Given the description of an element on the screen output the (x, y) to click on. 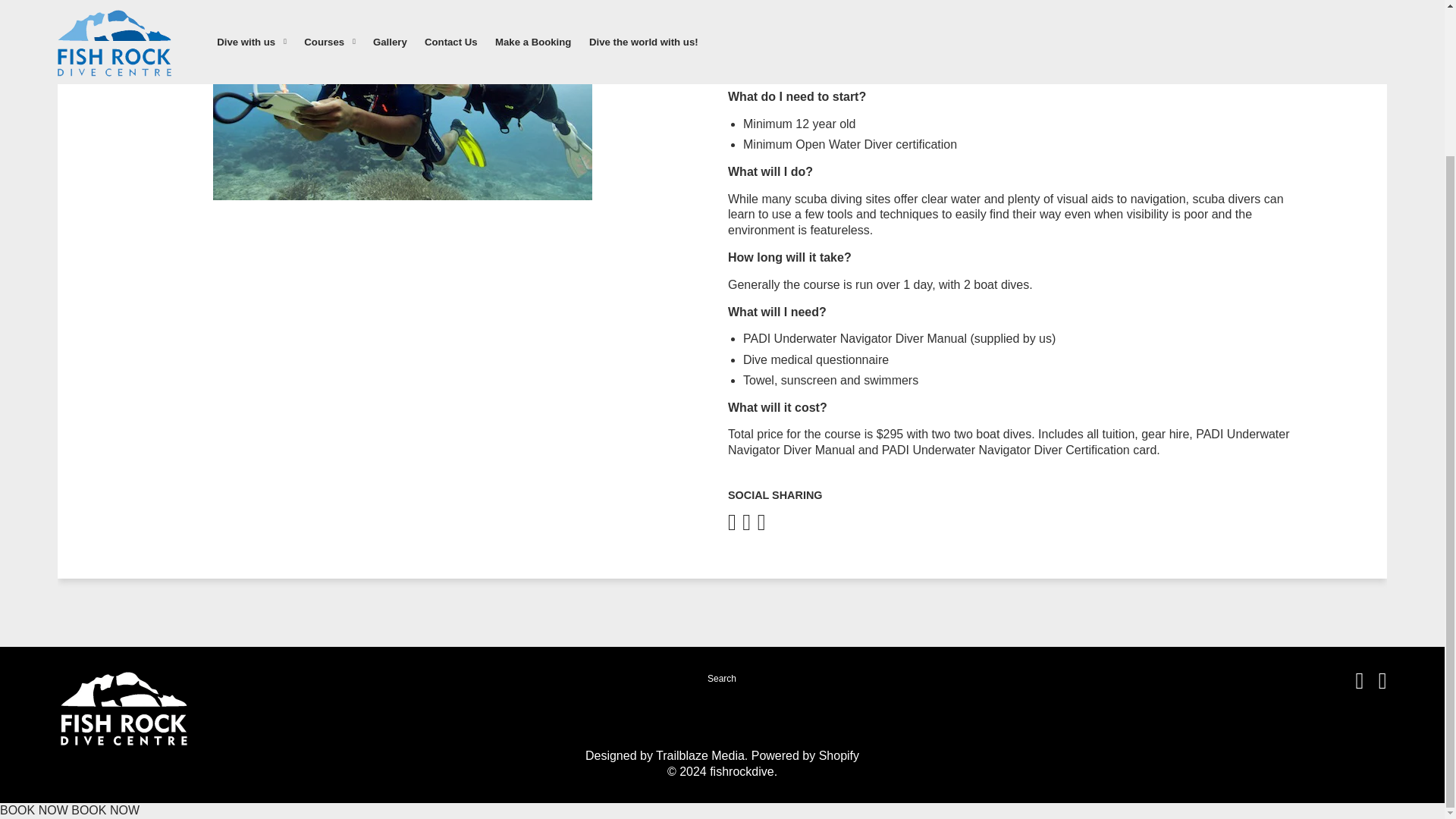
TrailblazeMedia.com (700, 755)
